Given the description of an element on the screen output the (x, y) to click on. 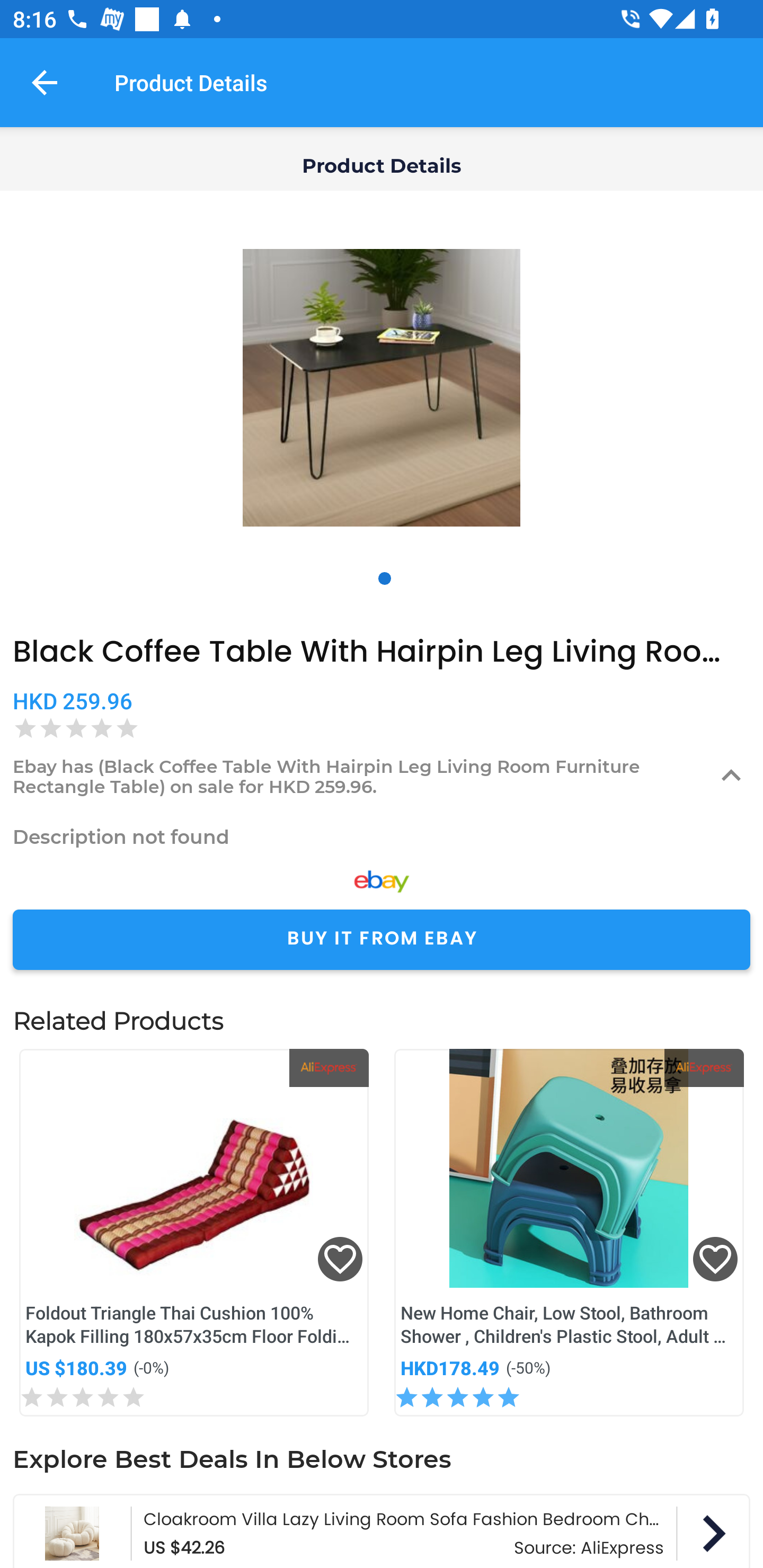
Navigate up (44, 82)
Description not found (381, 836)
BUY IT FROM EBAY (381, 940)
